Given the description of an element on the screen output the (x, y) to click on. 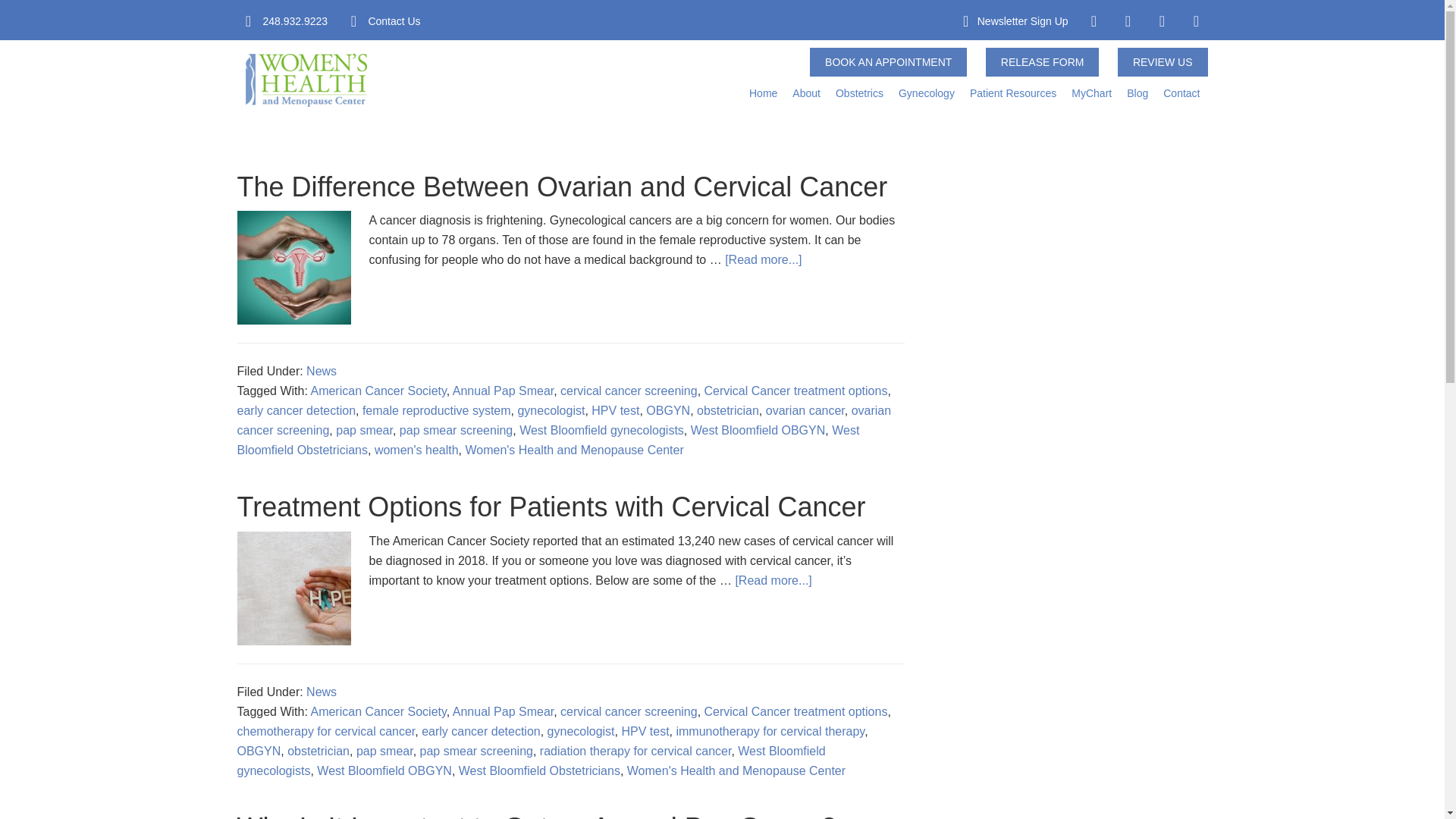
Home (762, 93)
Newsletter Sign Up (1022, 21)
Obstetrics (859, 93)
Gynecology (926, 93)
RELEASE FORM (1042, 61)
Contact Us (394, 21)
BOOK AN APPOINTMENT (887, 61)
REVIEW US (1163, 61)
About (806, 93)
